Given the description of an element on the screen output the (x, y) to click on. 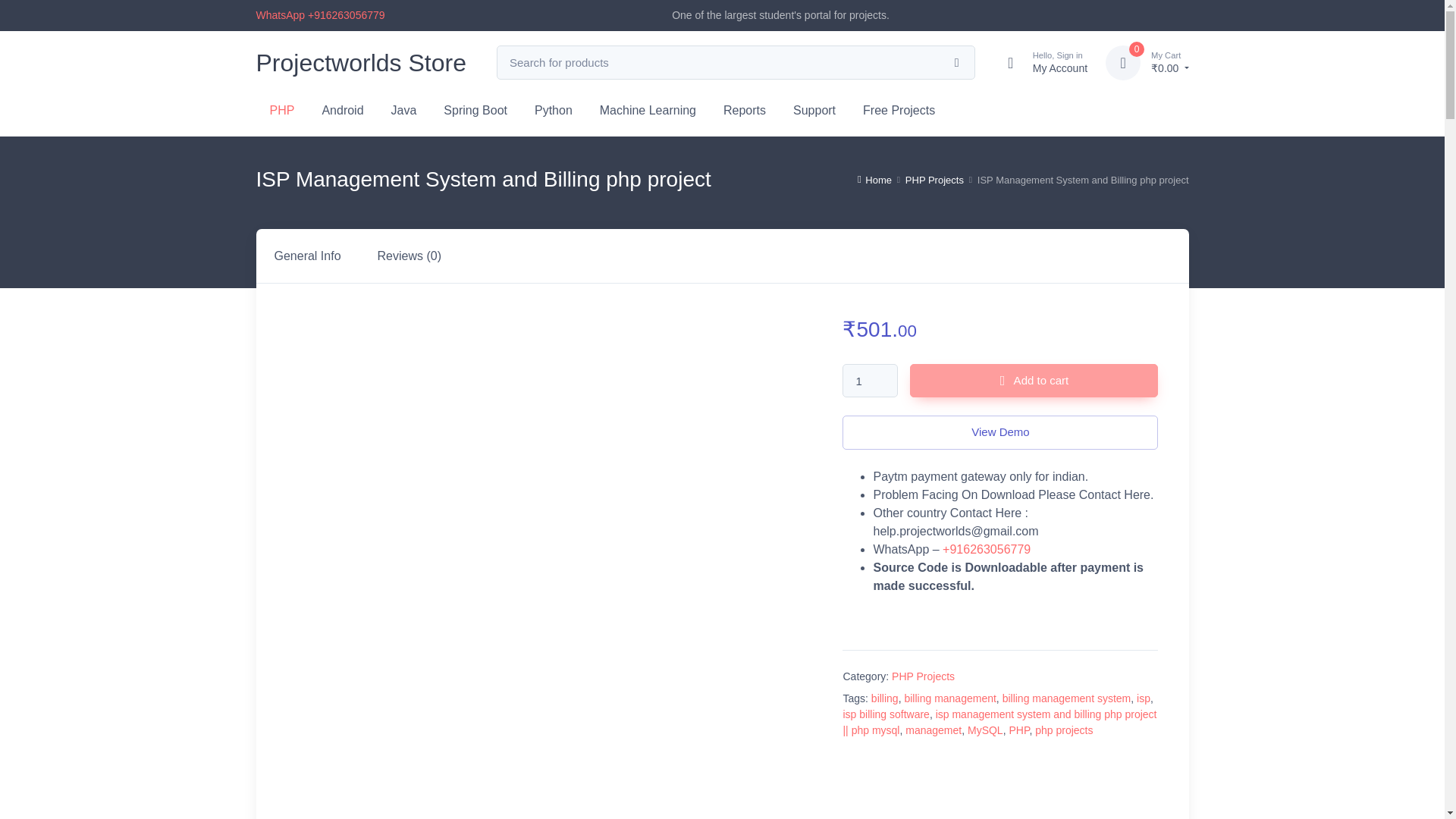
Android (342, 108)
Reports (744, 108)
1 (1039, 62)
Spring Boot (870, 380)
Java (475, 108)
Machine Learning (403, 108)
0 (648, 108)
Android (1122, 62)
PHP (342, 108)
